Given the description of an element on the screen output the (x, y) to click on. 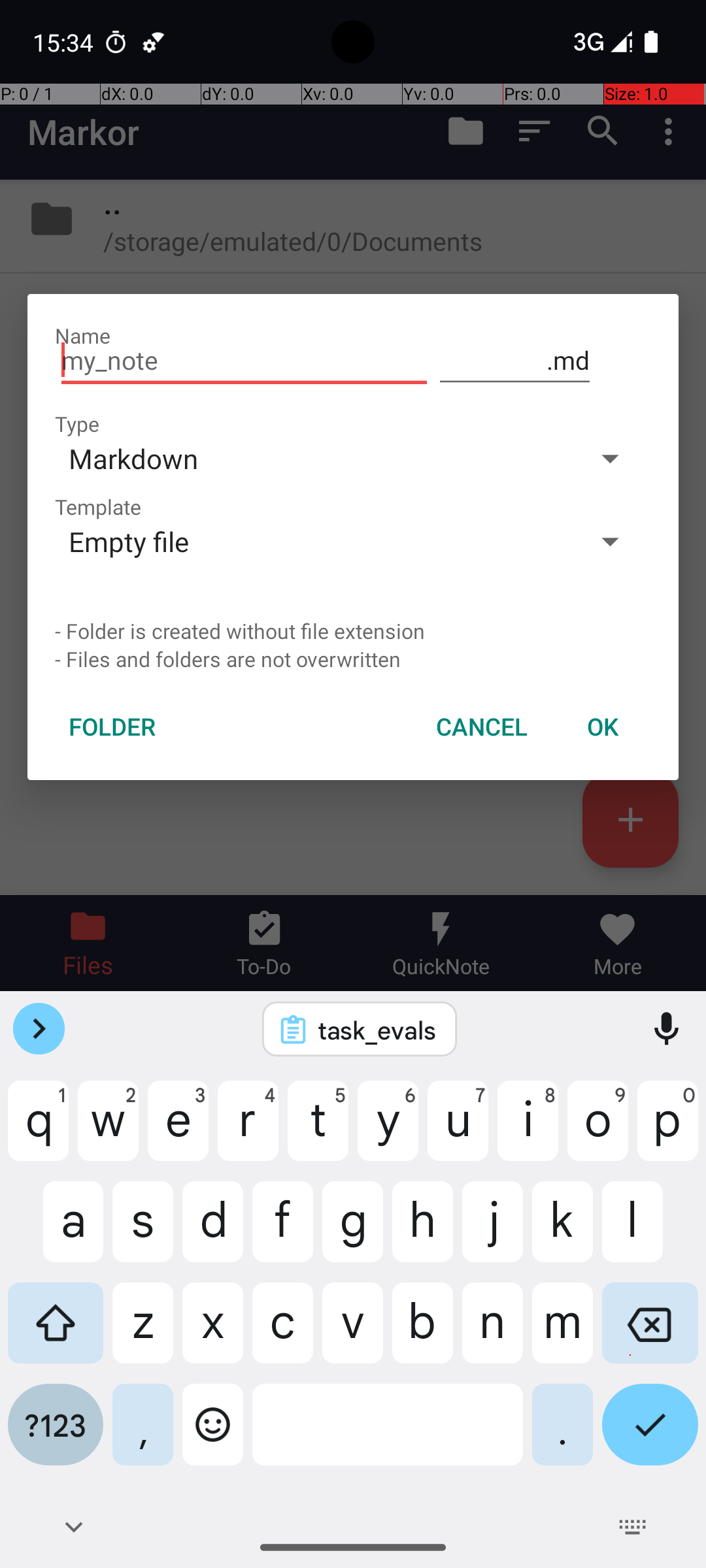
task_evals Element type: android.widget.TextView (376, 1029)
